Given the description of an element on the screen output the (x, y) to click on. 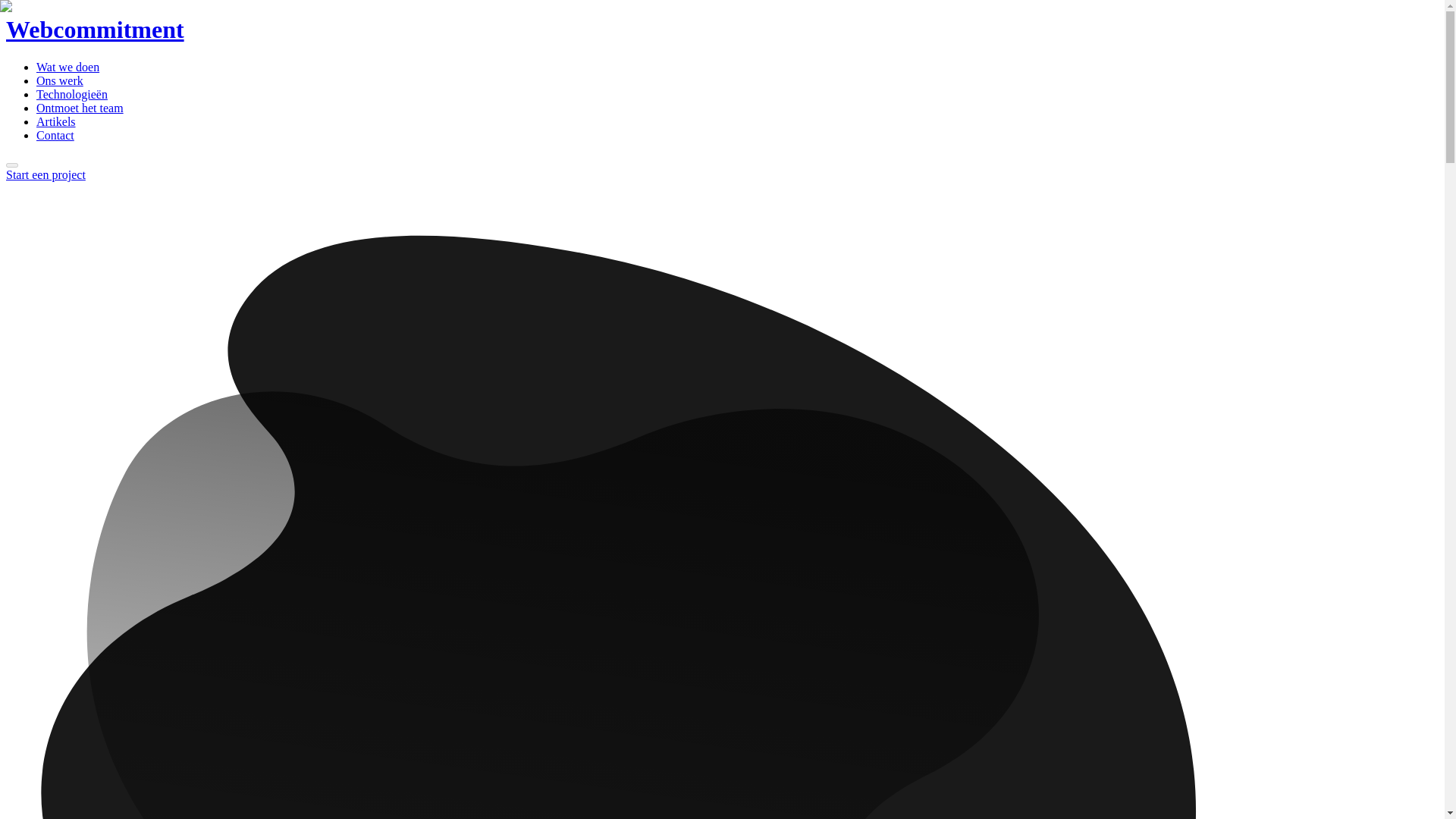
Wat we doen (67, 66)
Artikels (55, 121)
Start een project (45, 174)
Contact (55, 134)
Ons werk (59, 80)
Ontmoet het team (79, 107)
Navigation menu (11, 164)
